Given the description of an element on the screen output the (x, y) to click on. 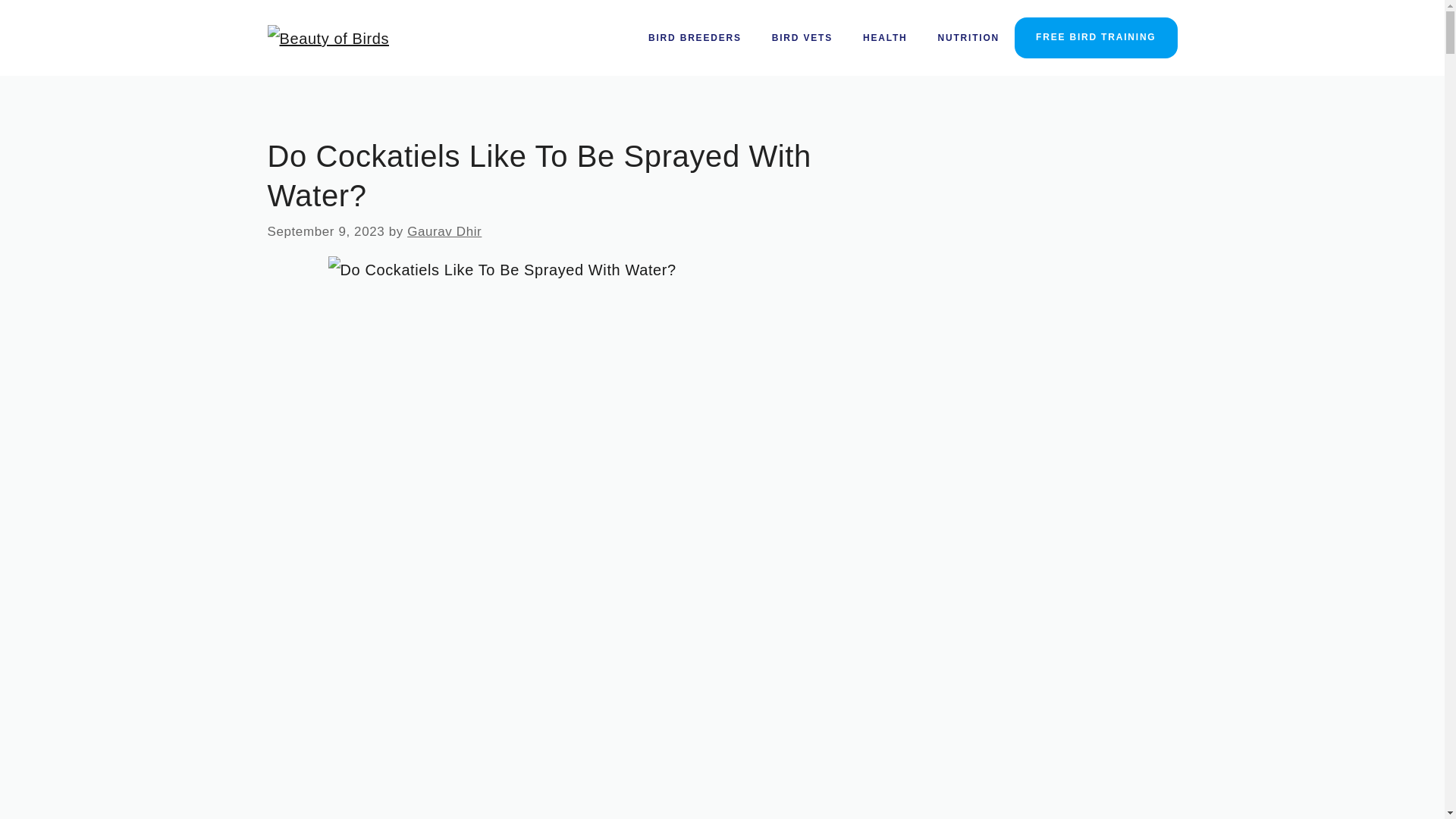
BIRD VETS (802, 37)
View all posts by Gaurav Dhir (444, 231)
Gaurav Dhir (444, 231)
HEALTH (885, 37)
NUTRITION (968, 37)
BIRD BREEDERS (695, 37)
FREE BIRD TRAINING (1095, 37)
